Given the description of an element on the screen output the (x, y) to click on. 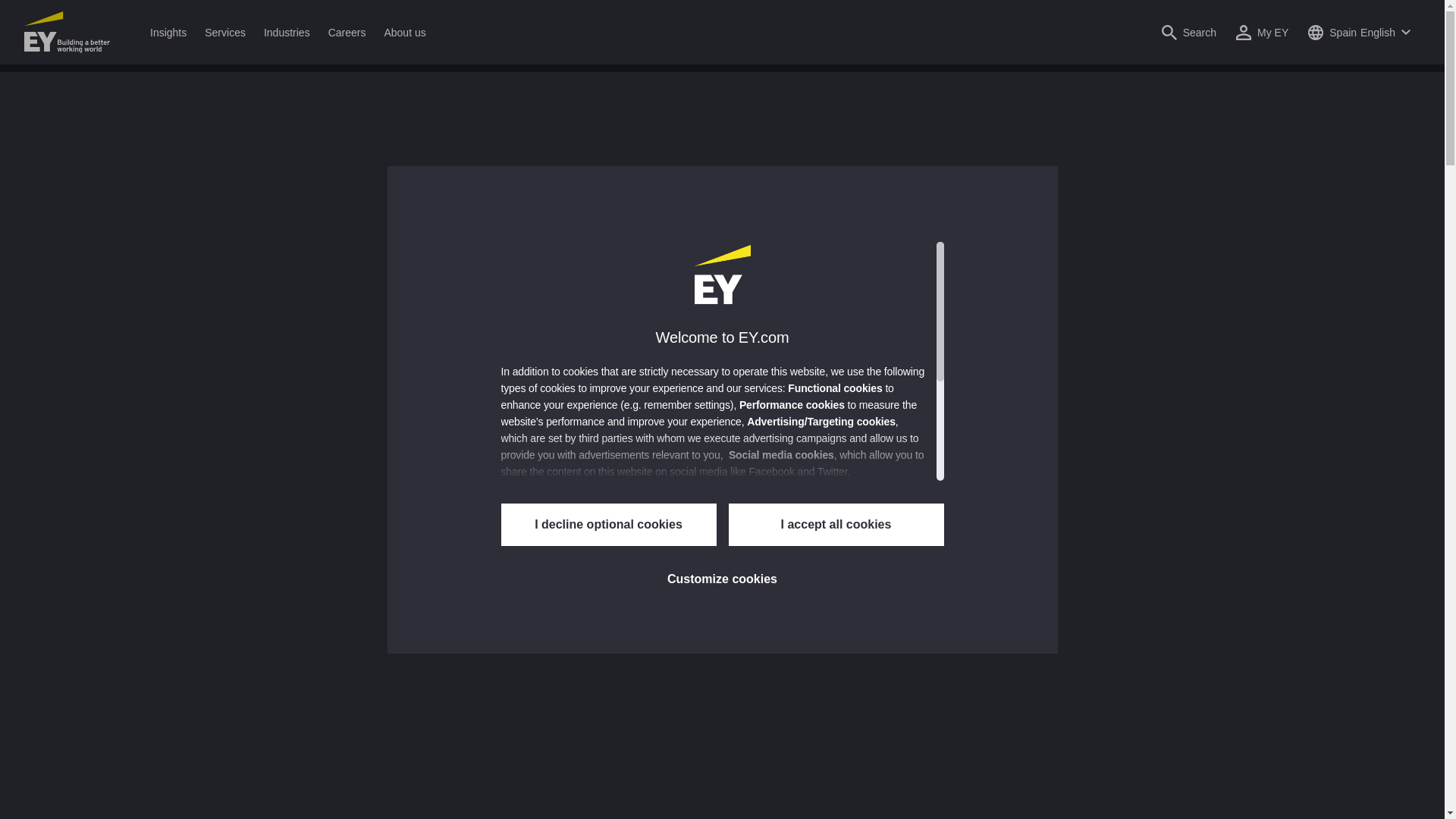
Open country language switcher (1358, 32)
My EY (1261, 32)
Open search (1188, 32)
EY Homepage (67, 32)
